Given the description of an element on the screen output the (x, y) to click on. 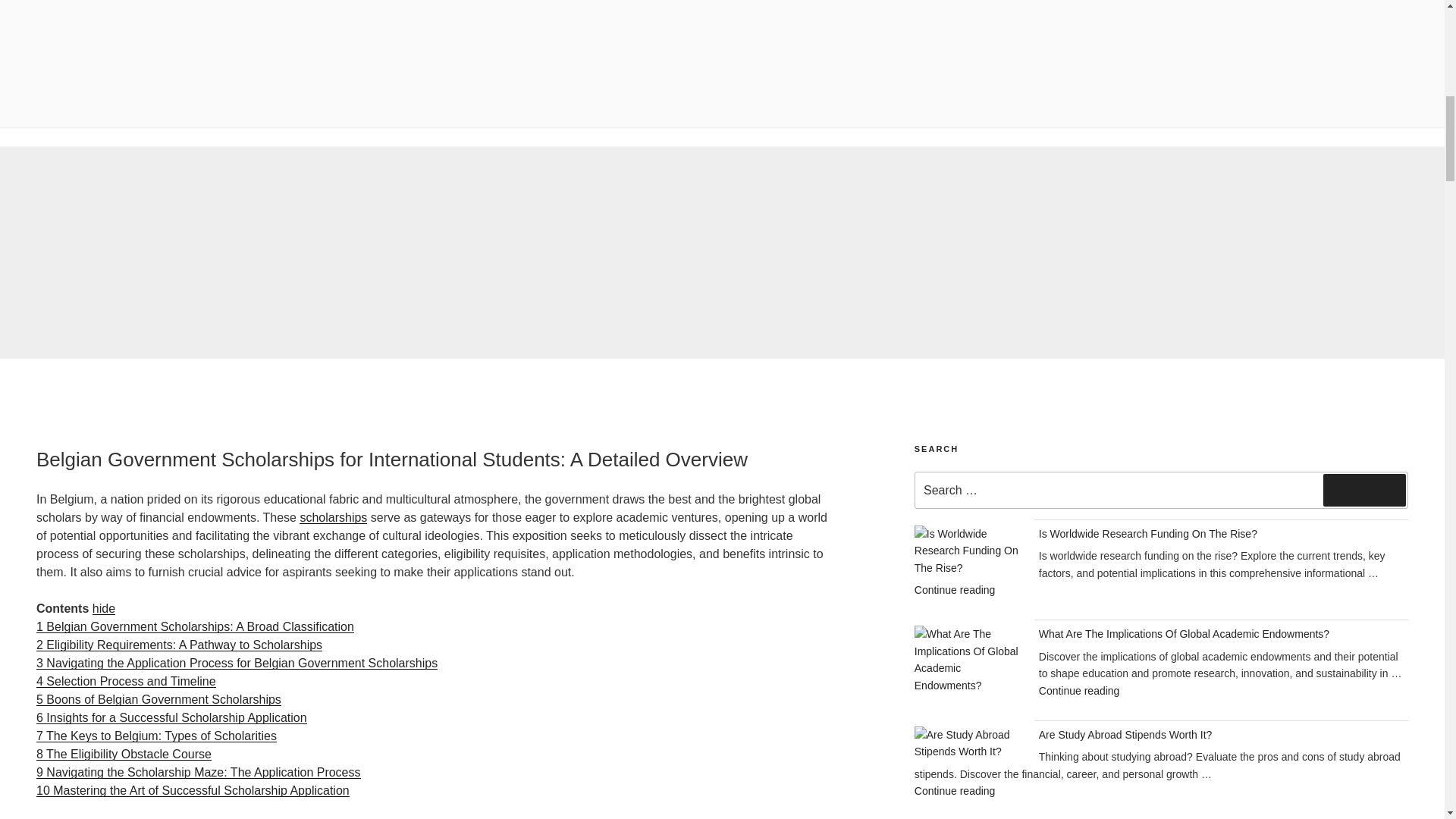
5 Boons of Belgian Government Scholarships (158, 698)
7 The Keys to Belgium: Types of Scholarities (156, 735)
2 Eligibility Requirements: A Pathway to Scholarships (178, 644)
scholarships (332, 517)
Search (1364, 490)
hide (104, 608)
6 Insights for a Successful Scholarship Application (171, 717)
4 Selection Process and Timeline (125, 680)
8 The Eligibility Obstacle Course (123, 753)
